Given the description of an element on the screen output the (x, y) to click on. 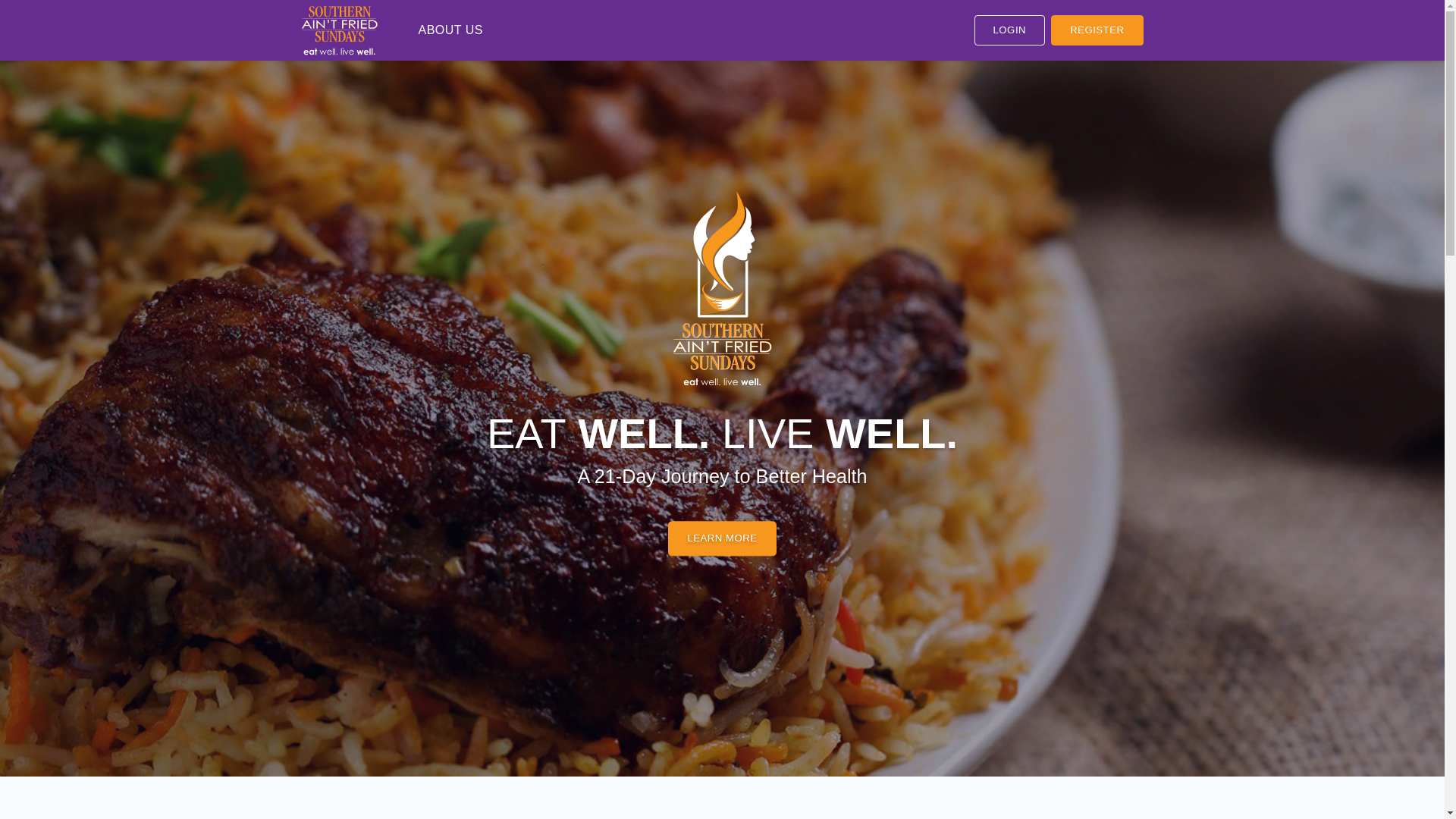
REGISTER (1096, 30)
ABOUT US (451, 29)
LOGIN (1009, 30)
LEARN MORE (722, 538)
